Given the description of an element on the screen output the (x, y) to click on. 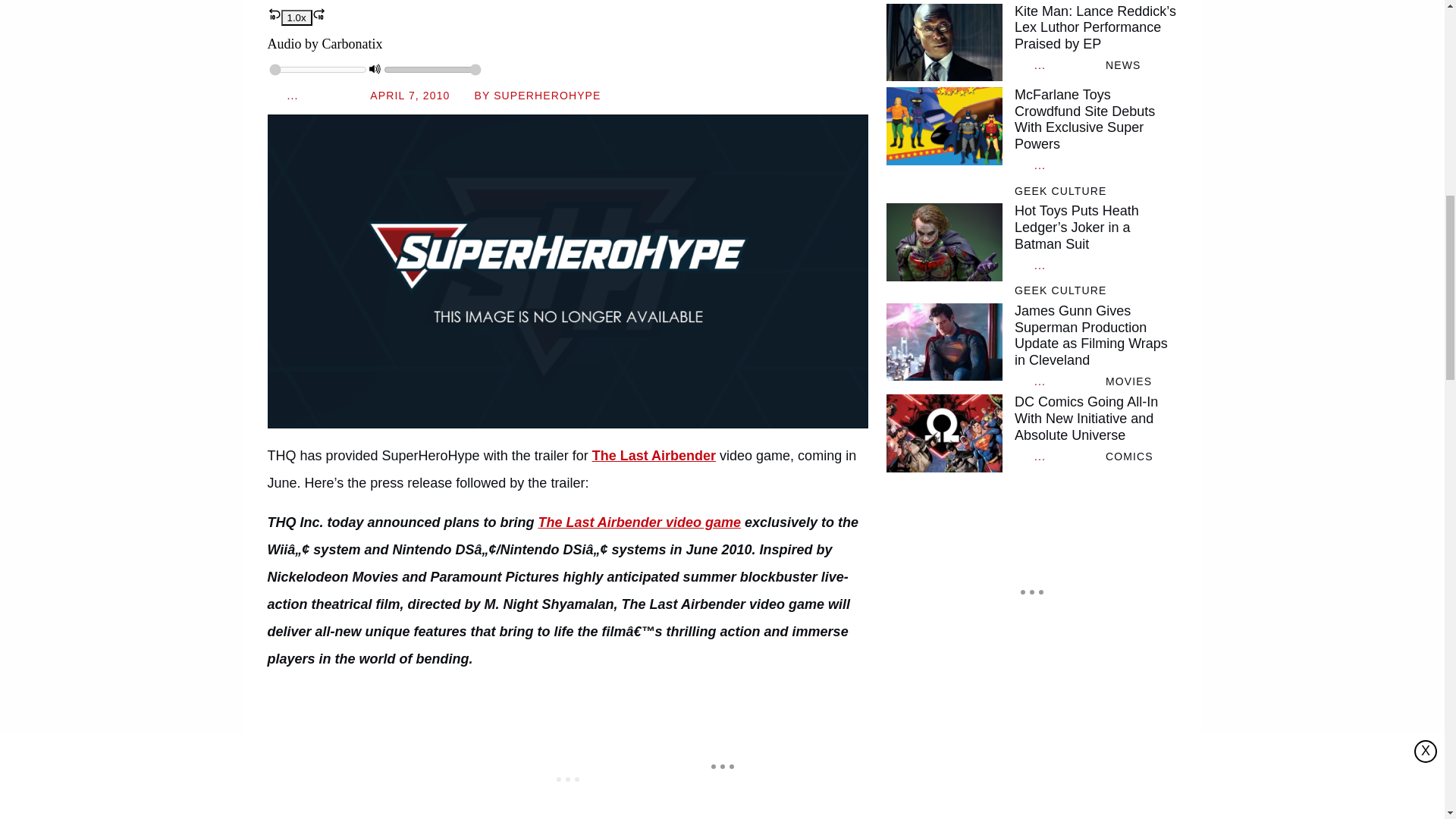
The Last Airbender (654, 455)
... (1063, 65)
SUPERHEROHYPE (546, 95)
NEWS (1122, 65)
GEEK CULTURE (1060, 191)
The Last Airbender video game (639, 522)
... (1063, 164)
... (316, 95)
